Given the description of an element on the screen output the (x, y) to click on. 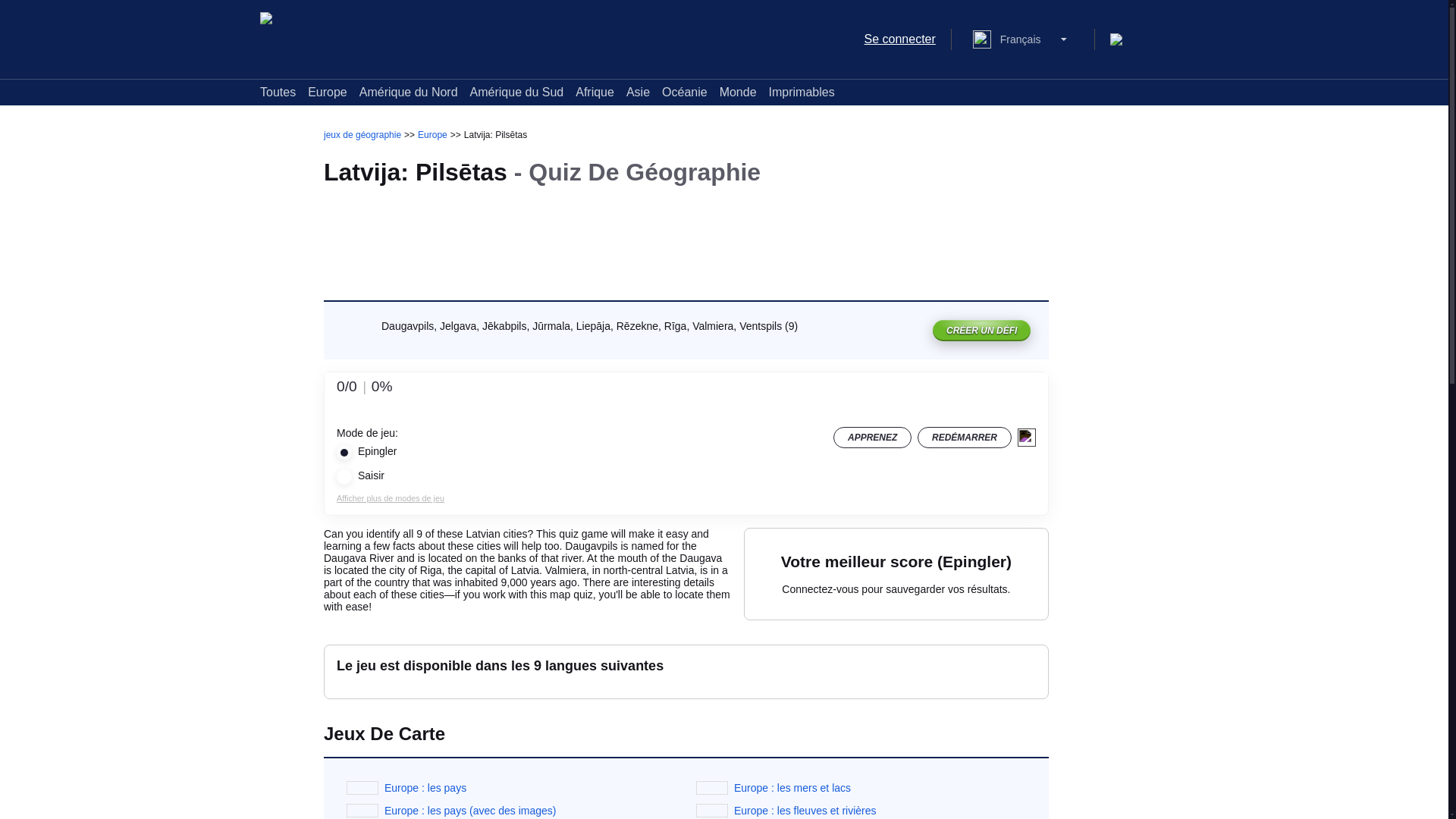
Europe : les pays (424, 787)
Europe (431, 134)
Toutes (277, 91)
Imprimables (801, 91)
Monde (738, 91)
Afficher plus de modes de jeu (390, 497)
Afrique (594, 91)
APPRENEZ (871, 436)
Asie (637, 91)
Se connecter (900, 38)
Europe (327, 91)
